Given the description of an element on the screen output the (x, y) to click on. 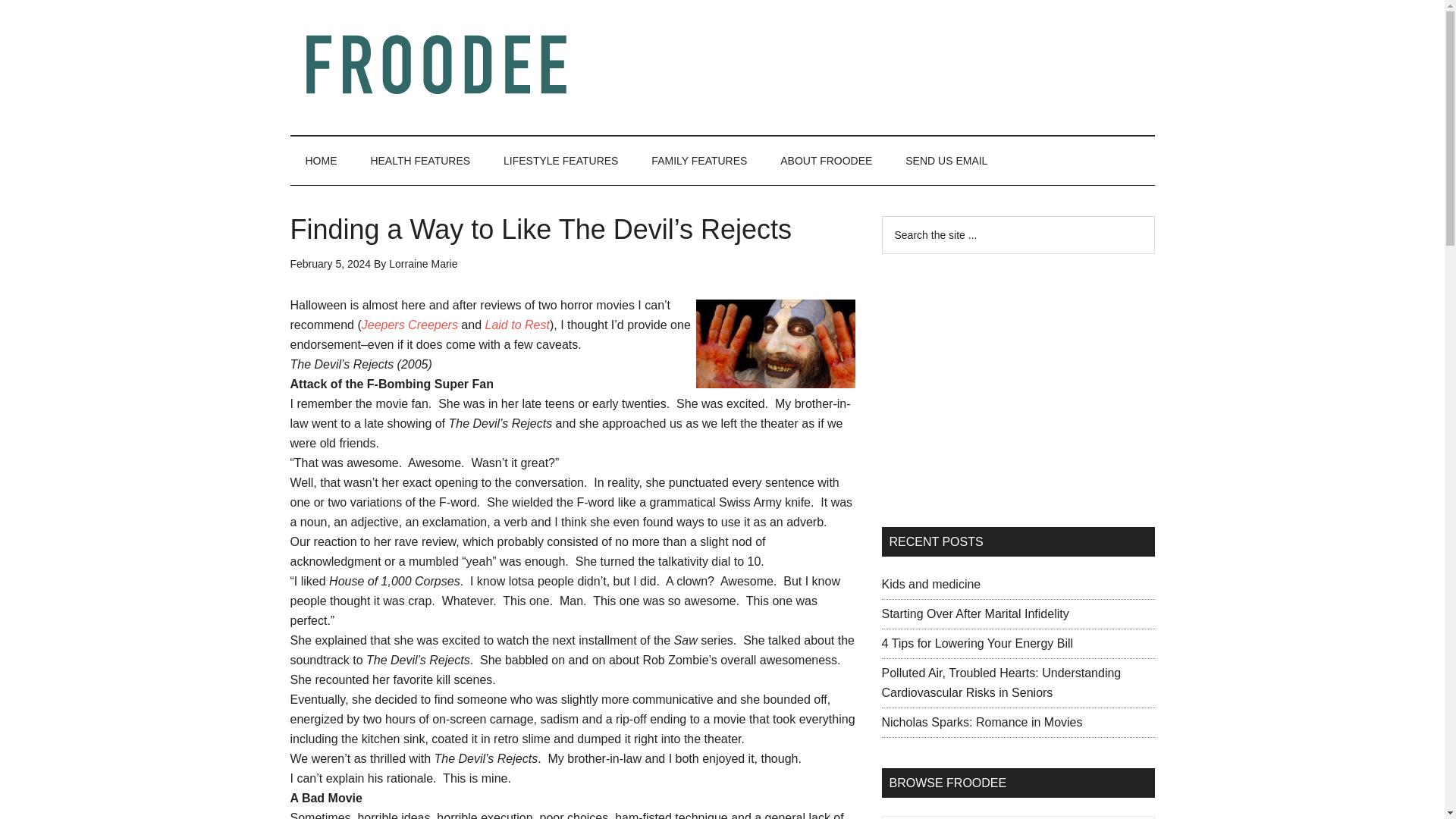
HOME (320, 160)
Kids and medicine (929, 584)
4 Tips for Lowering Your Energy Bill (976, 643)
Lorraine Marie (422, 263)
Nicholas Sparks: Romance in Movies (980, 721)
Advertisement (1017, 390)
LIFESTYLE FEATURES (560, 160)
Starting Over After Marital Infidelity (974, 613)
FAMILY FEATURES (698, 160)
devilsrejects (775, 344)
Jeepers Creepers (409, 324)
Laid to Rest (517, 324)
ABOUT FROODEE (825, 160)
